Given the description of an element on the screen output the (x, y) to click on. 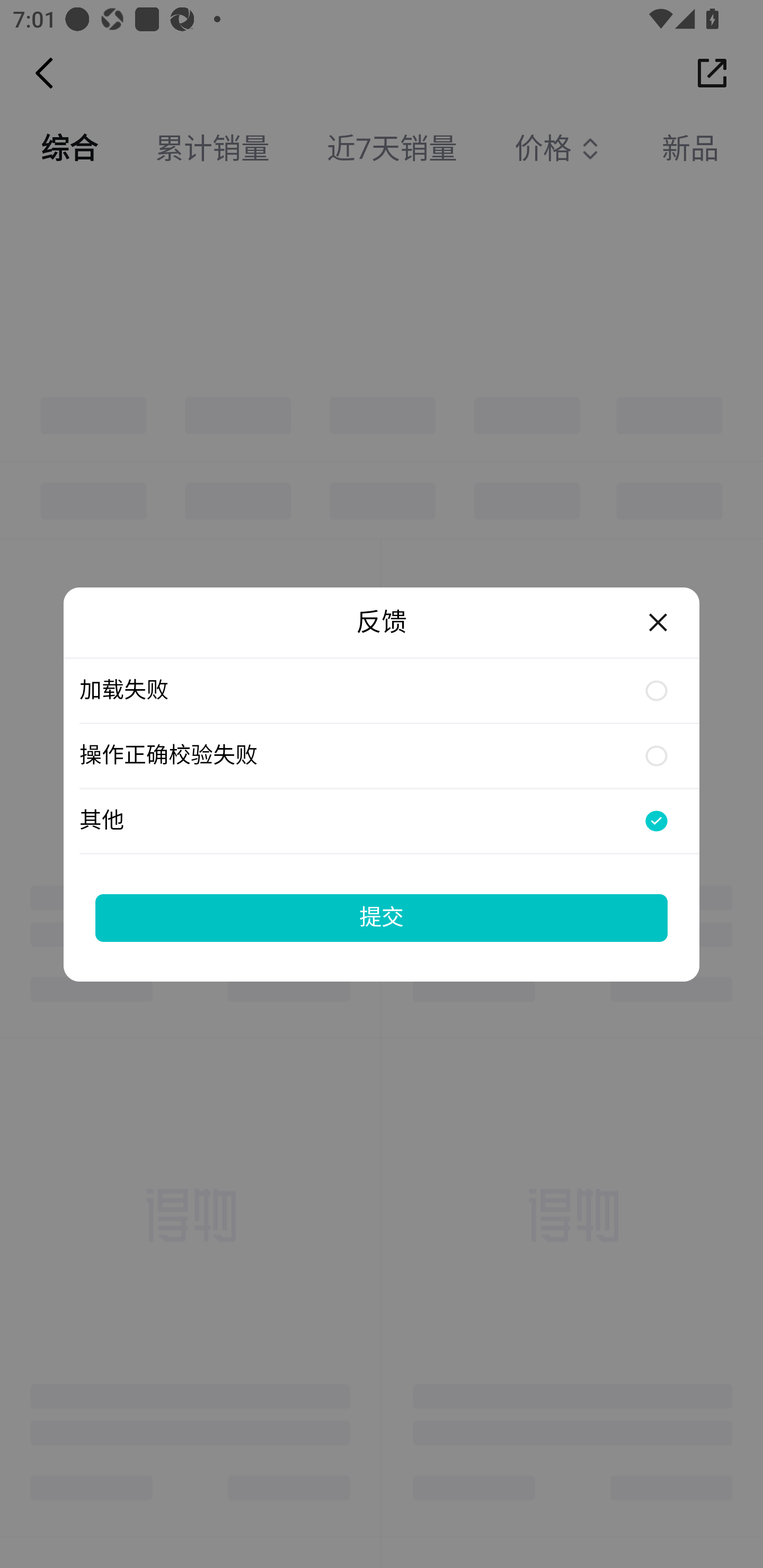
提交 (381, 917)
